Given the description of an element on the screen output the (x, y) to click on. 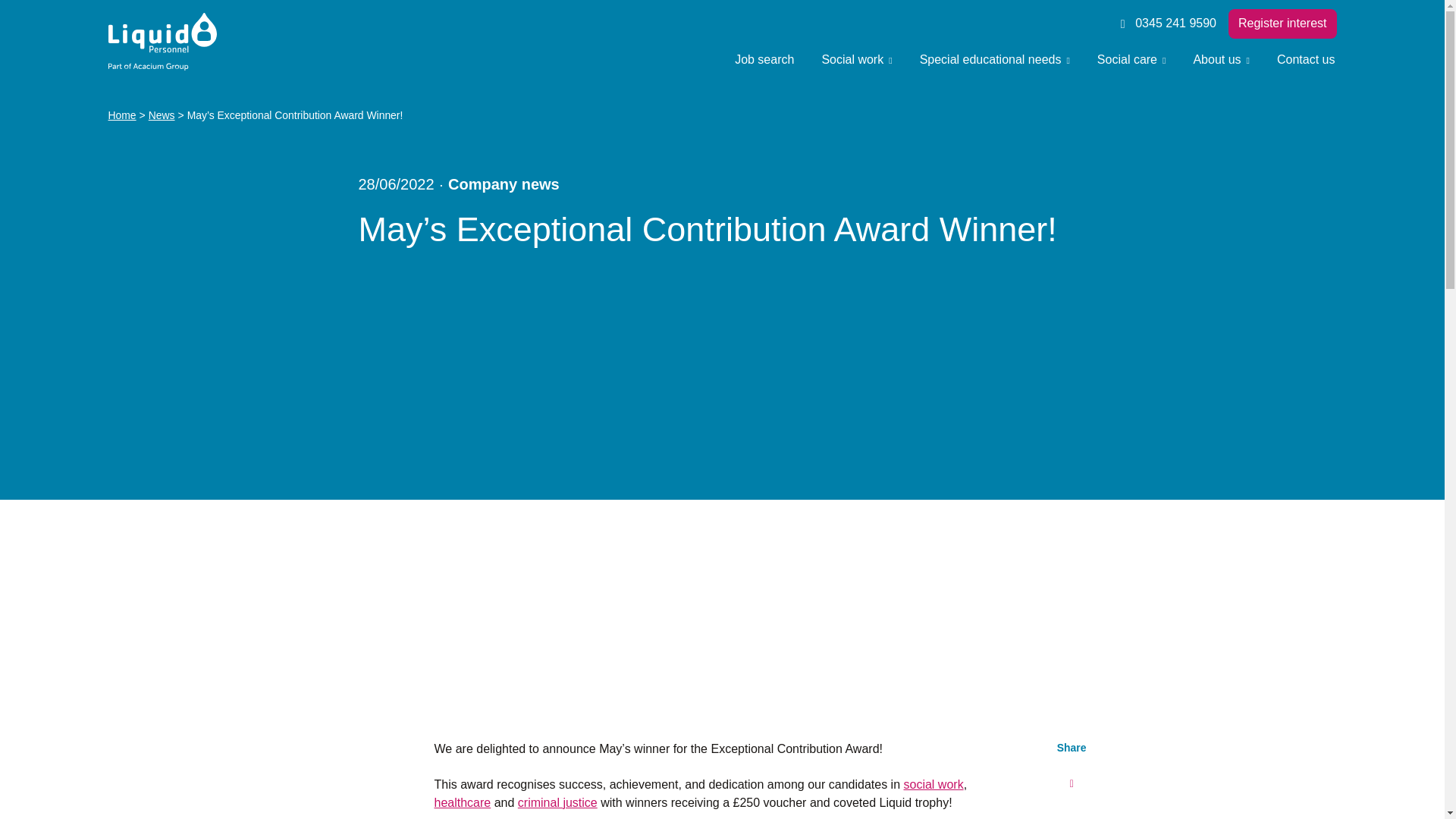
Special educational needs (994, 59)
Social care (1130, 59)
Register interest (1282, 23)
Contact us (1305, 59)
About us (1221, 59)
Job search (764, 59)
Liquid Personnel (161, 42)
Social work (856, 59)
